Given the description of an element on the screen output the (x, y) to click on. 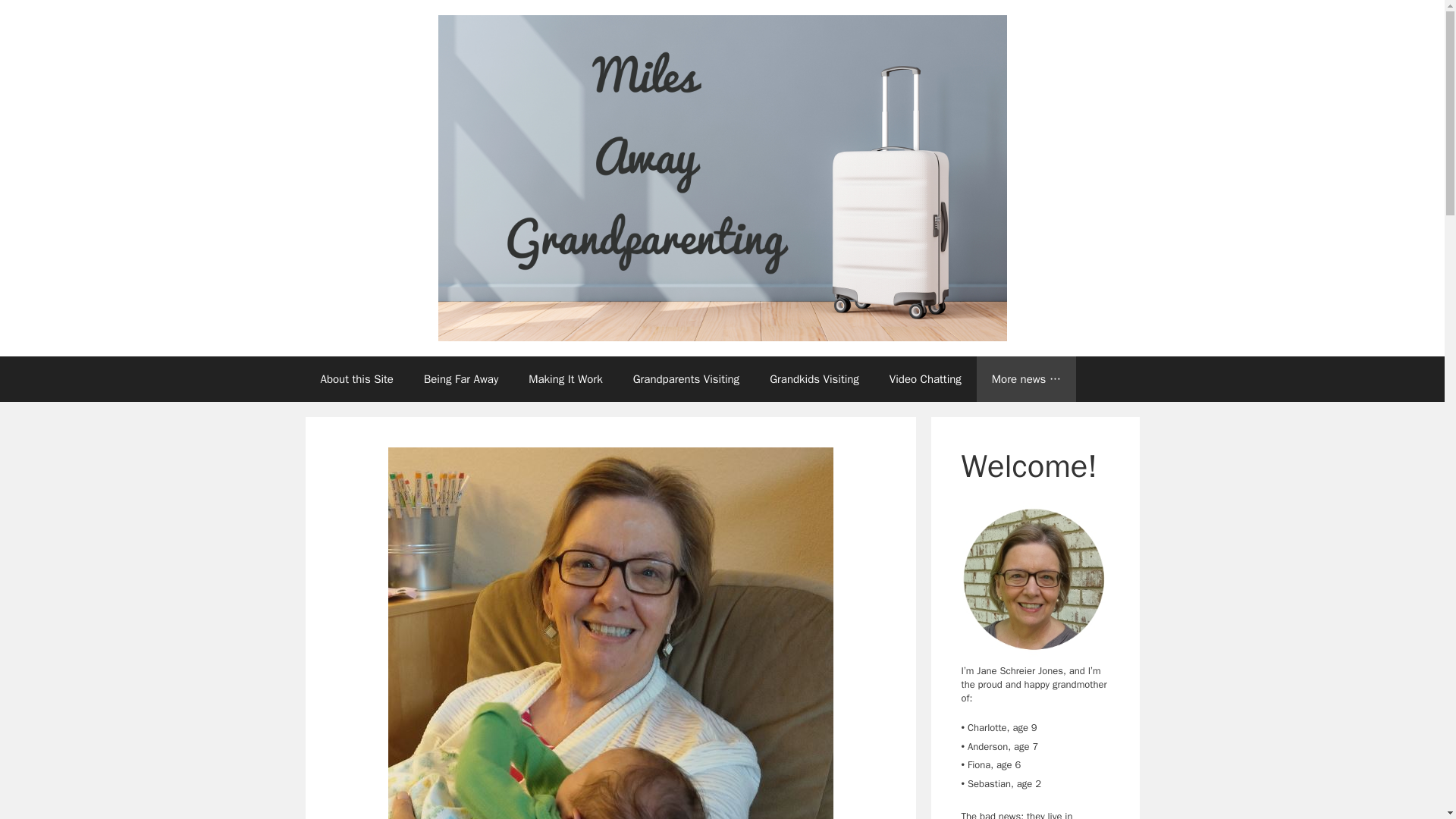
Grandparents Visiting (685, 379)
Grandkids Visiting (814, 379)
Making It Work (565, 379)
Being Far Away (461, 379)
Video Chatting (925, 379)
Search (35, 18)
About this Site (355, 379)
Miles Away Grandparenting (722, 176)
